Given the description of an element on the screen output the (x, y) to click on. 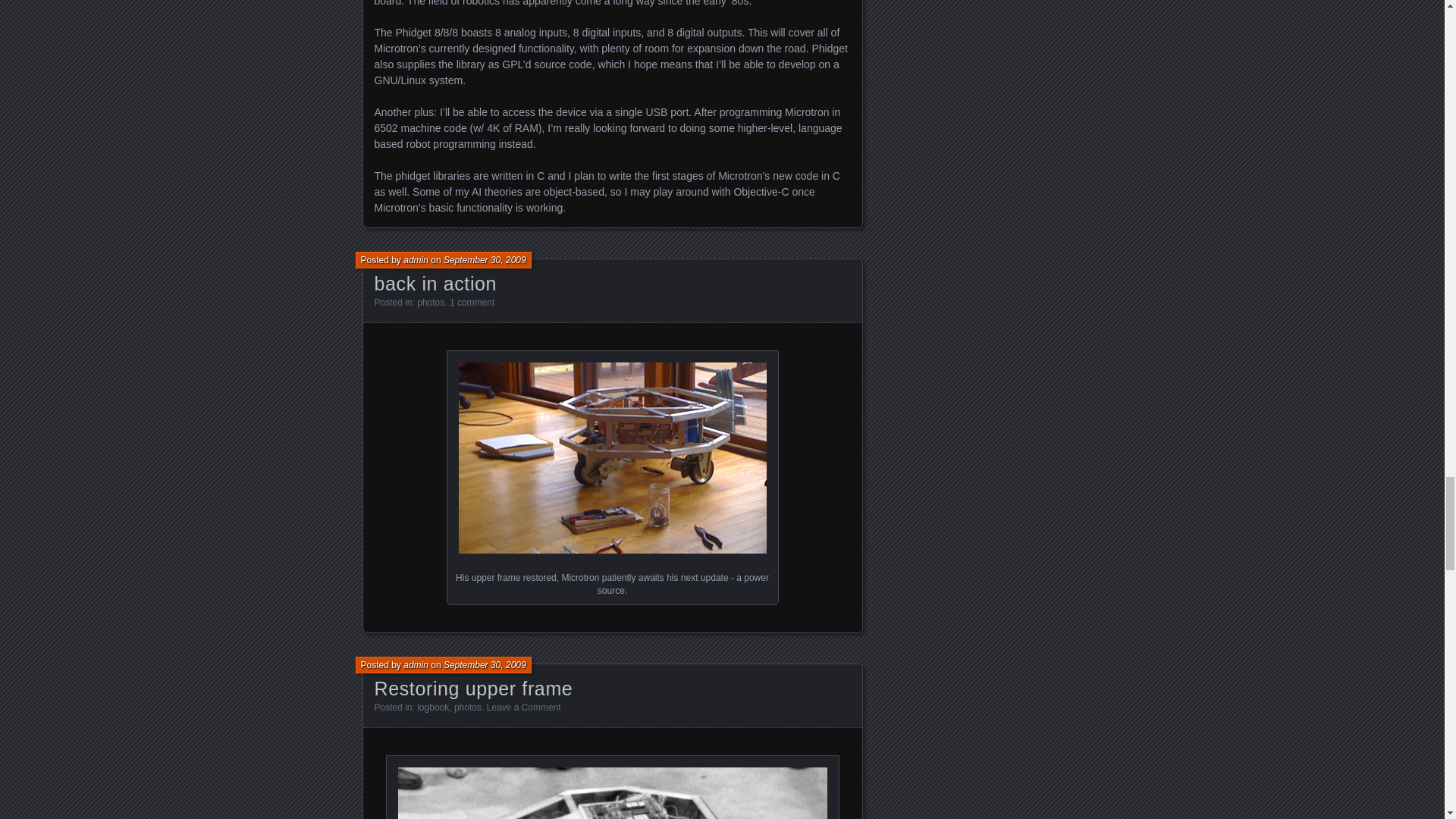
View all posts by admin (415, 259)
View all posts by admin (415, 665)
Microtron in 1983 (612, 793)
Microtron awaits his next update (611, 457)
